Given the description of an element on the screen output the (x, y) to click on. 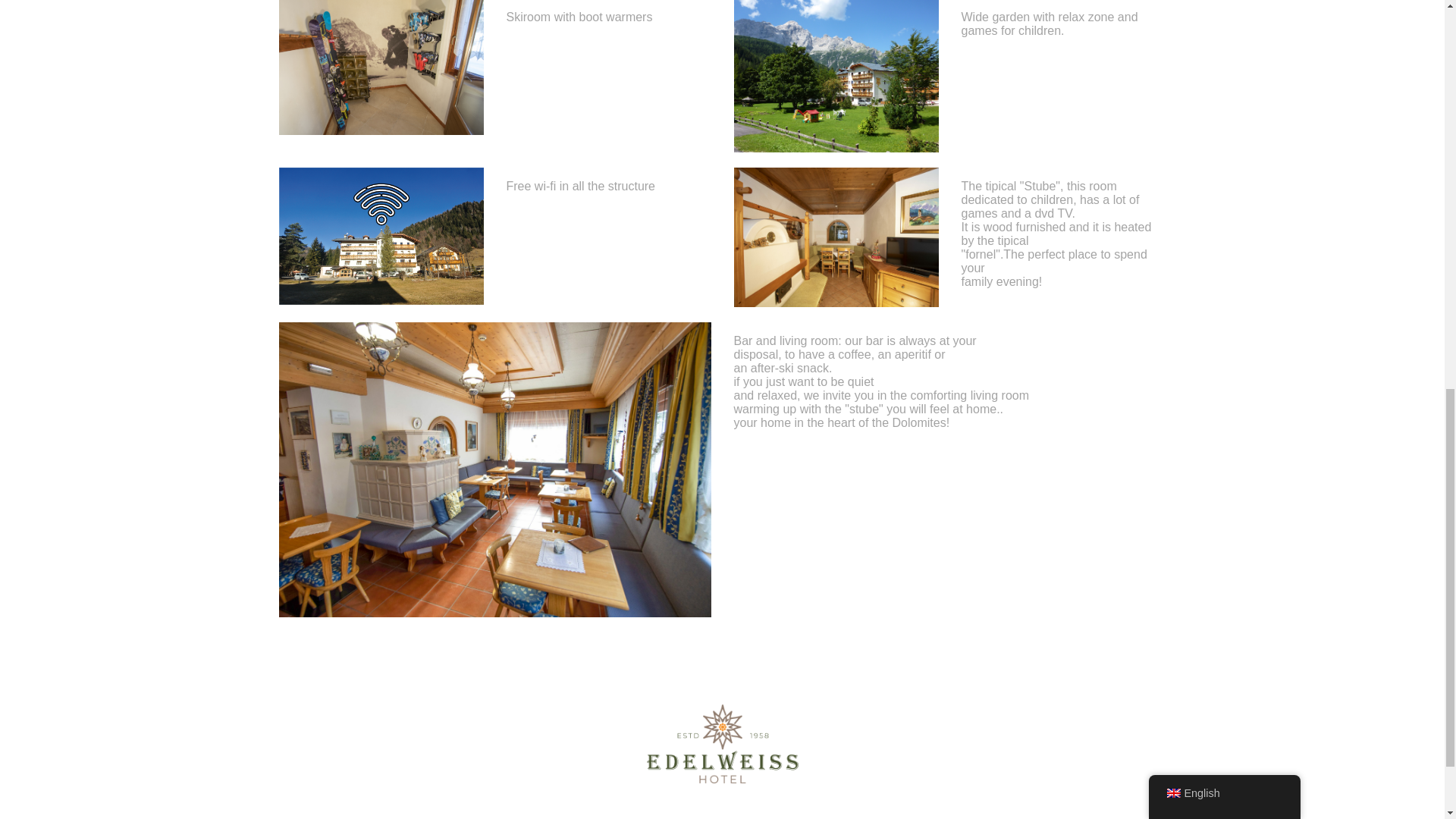
P1000597 (836, 76)
skiroom (381, 67)
saletta stube (495, 469)
wifi foto0 (381, 235)
saletta stube (836, 237)
